Given the description of an element on the screen output the (x, y) to click on. 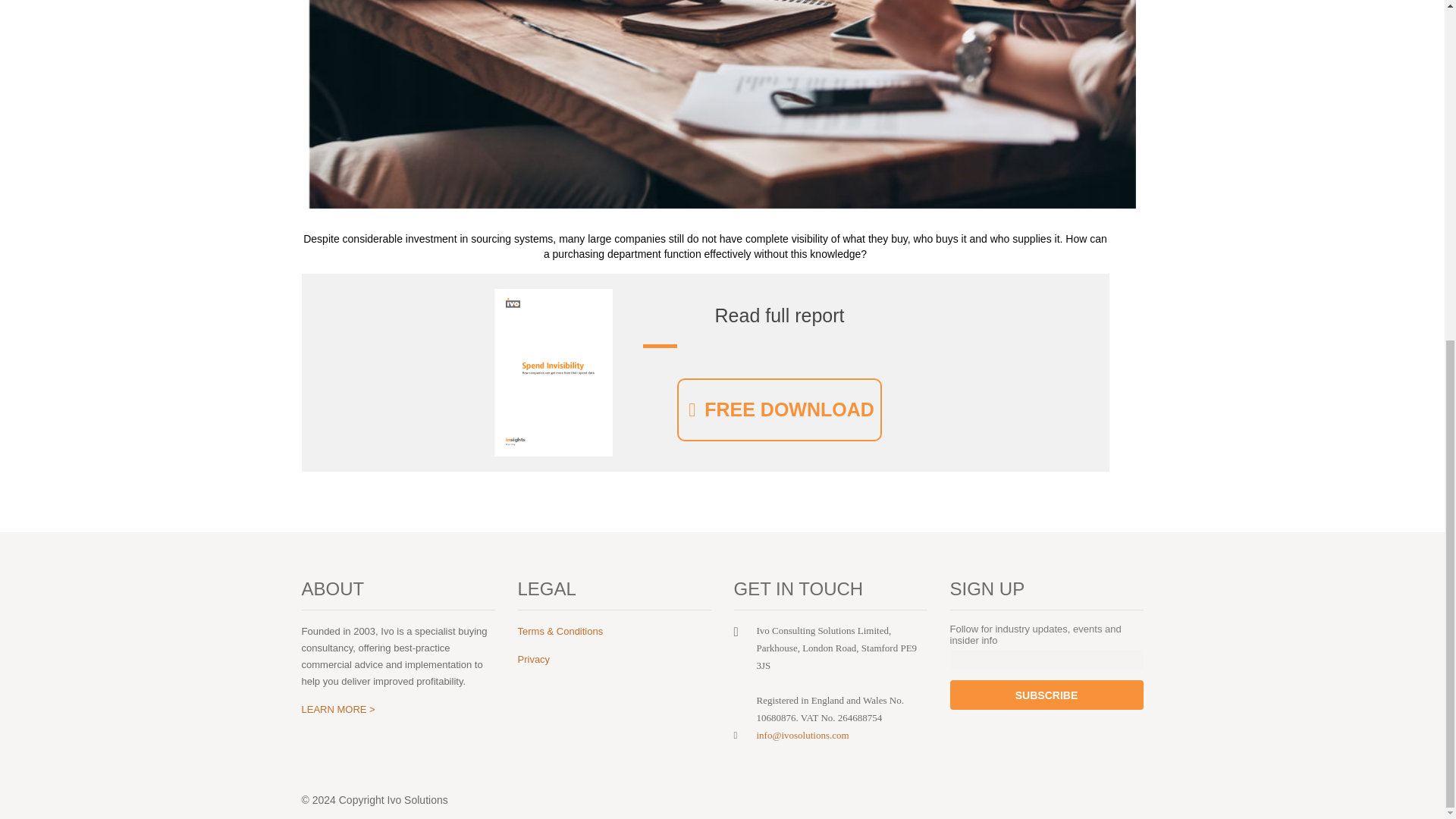
Subscribe (1045, 695)
Privacy (533, 659)
Subscribe (1045, 695)
